Given the description of an element on the screen output the (x, y) to click on. 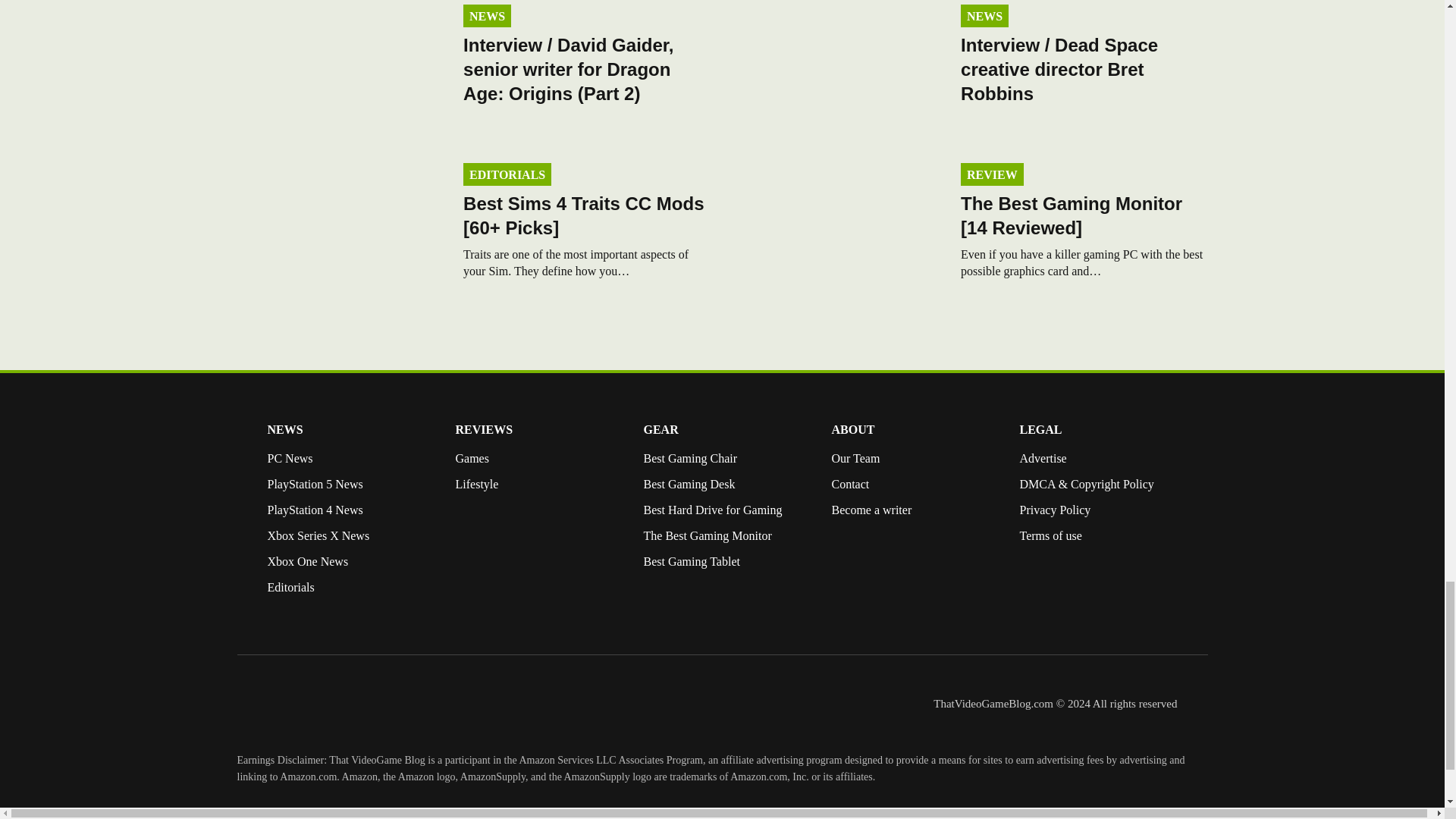
DMCA.com Protection Program (1049, 596)
